Given the description of an element on the screen output the (x, y) to click on. 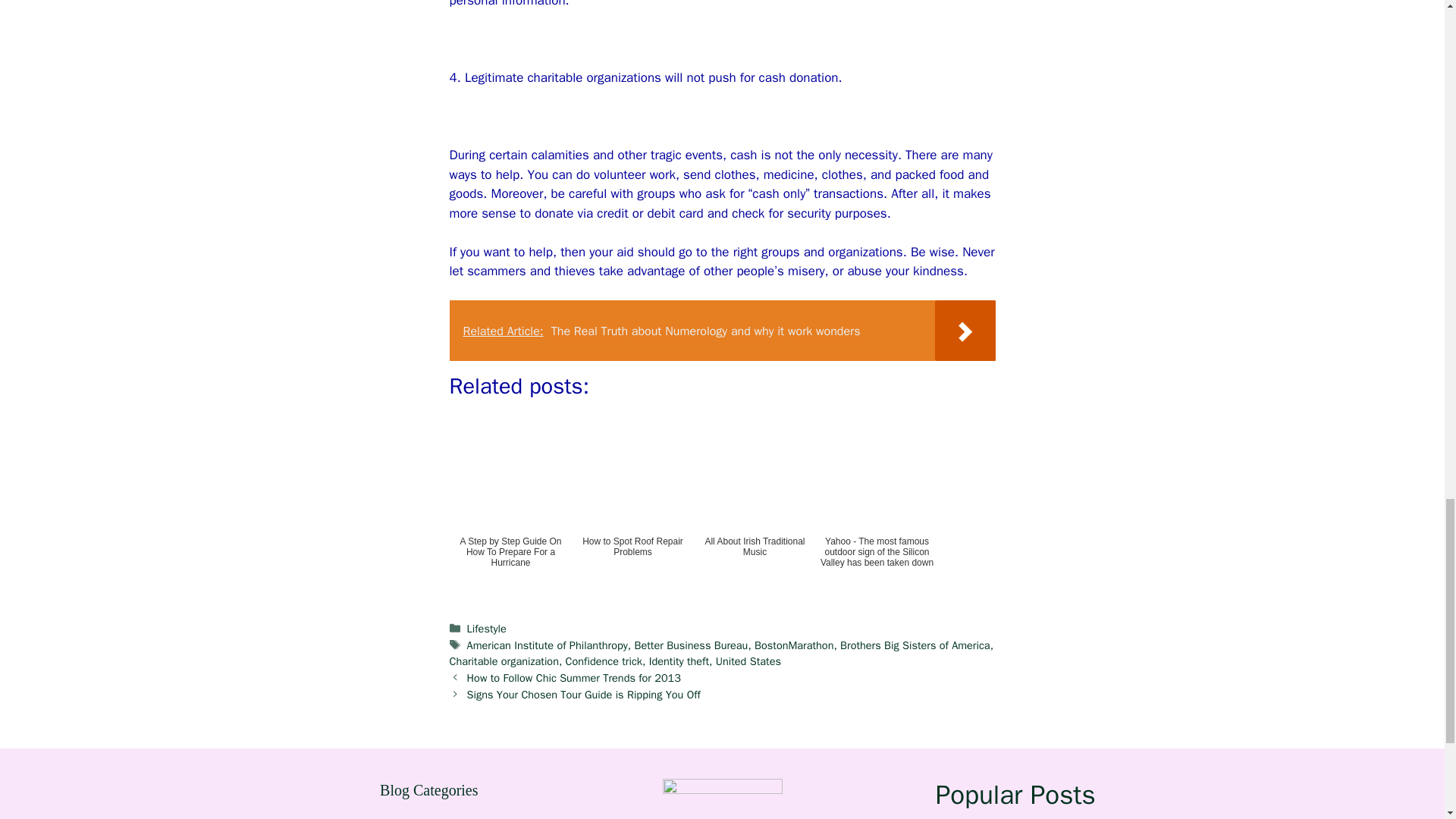
Better Business Bureau (690, 644)
Lifestyle (486, 628)
Signs Your Chosen Tour Guide is Ripping You Off (583, 694)
How to Follow Chic Summer Trends for 2013 (574, 677)
American Institute of Philanthropy (547, 644)
Identity theft (679, 661)
Charitable organization (502, 661)
United States (748, 661)
BostonMarathon (793, 644)
